Given the description of an element on the screen output the (x, y) to click on. 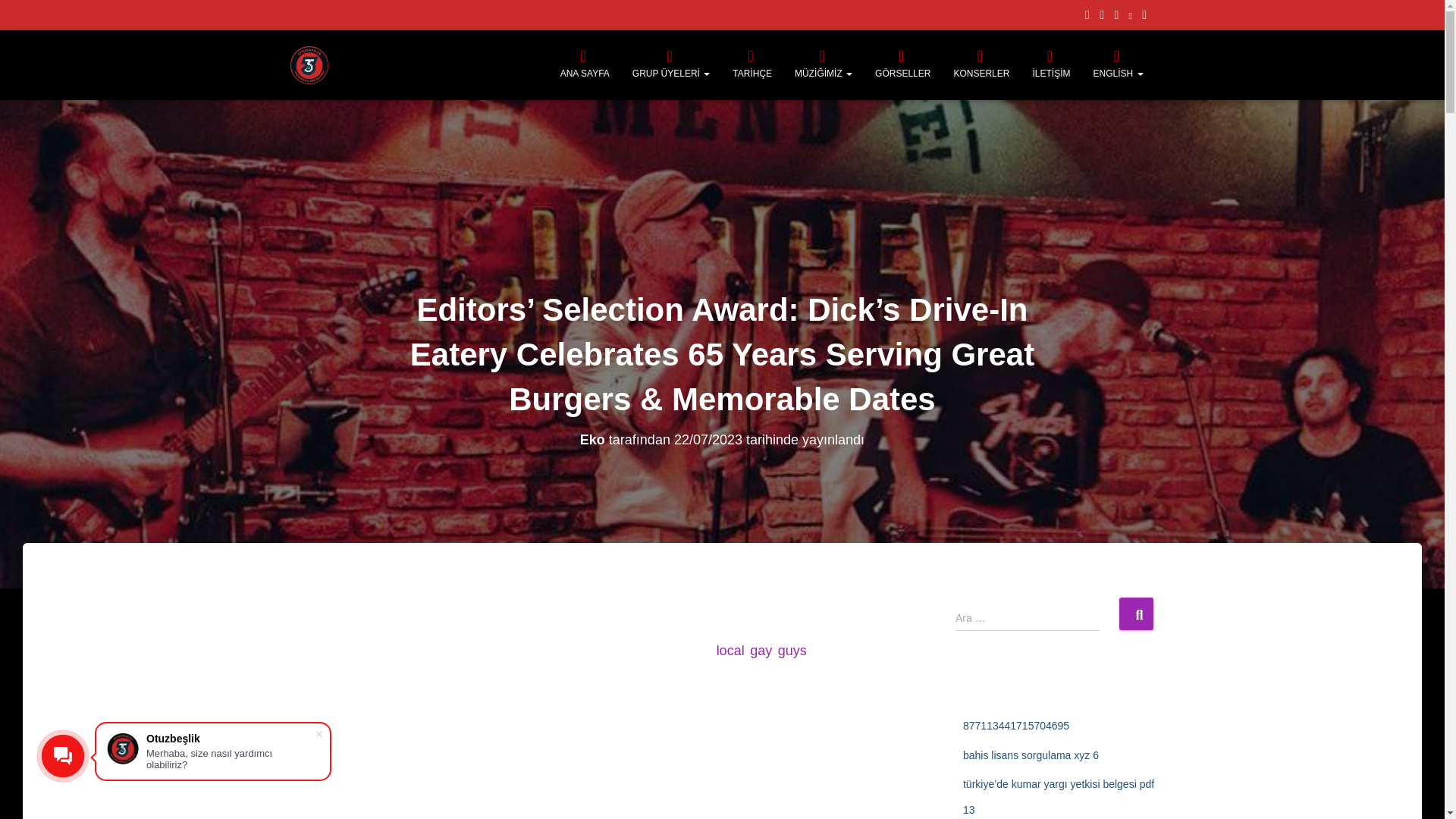
KONSERLER (981, 64)
local gay guys (761, 650)
Ara (1136, 613)
Ara (1136, 613)
877113441715704695 (1015, 725)
ENGLISH (1117, 64)
Ana Sayfa (584, 64)
Ara (1136, 613)
Eko (592, 439)
ANA SAYFA (584, 64)
bahis lisans sorgulama xyz 6 (1030, 755)
